Given the description of an element on the screen output the (x, y) to click on. 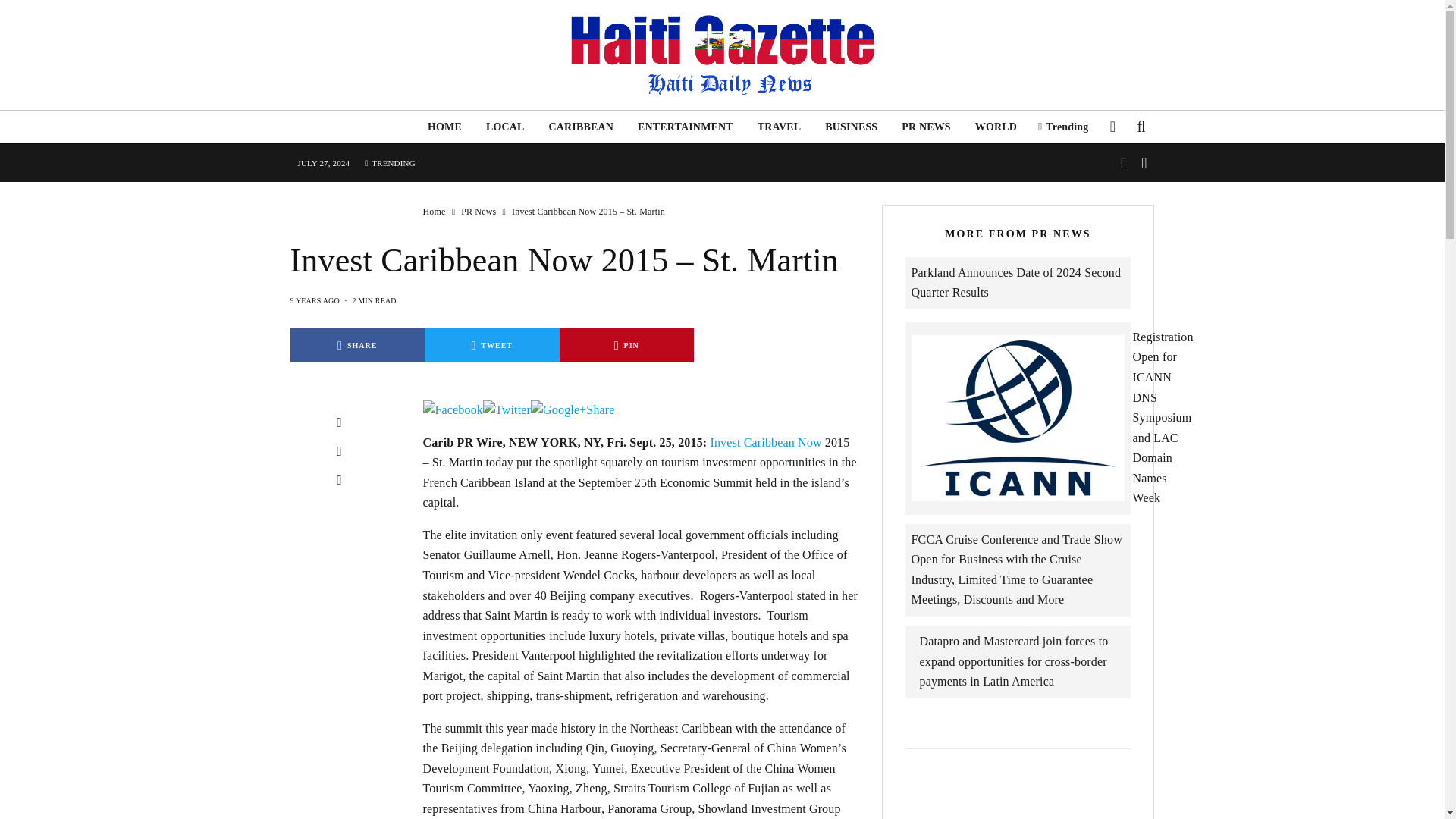
LOCAL (505, 126)
TRAVEL (779, 126)
Facebook (453, 409)
HOME (444, 126)
CARIBBEAN (581, 126)
Twitter (507, 409)
ENTERTAINMENT (685, 126)
